Given the description of an element on the screen output the (x, y) to click on. 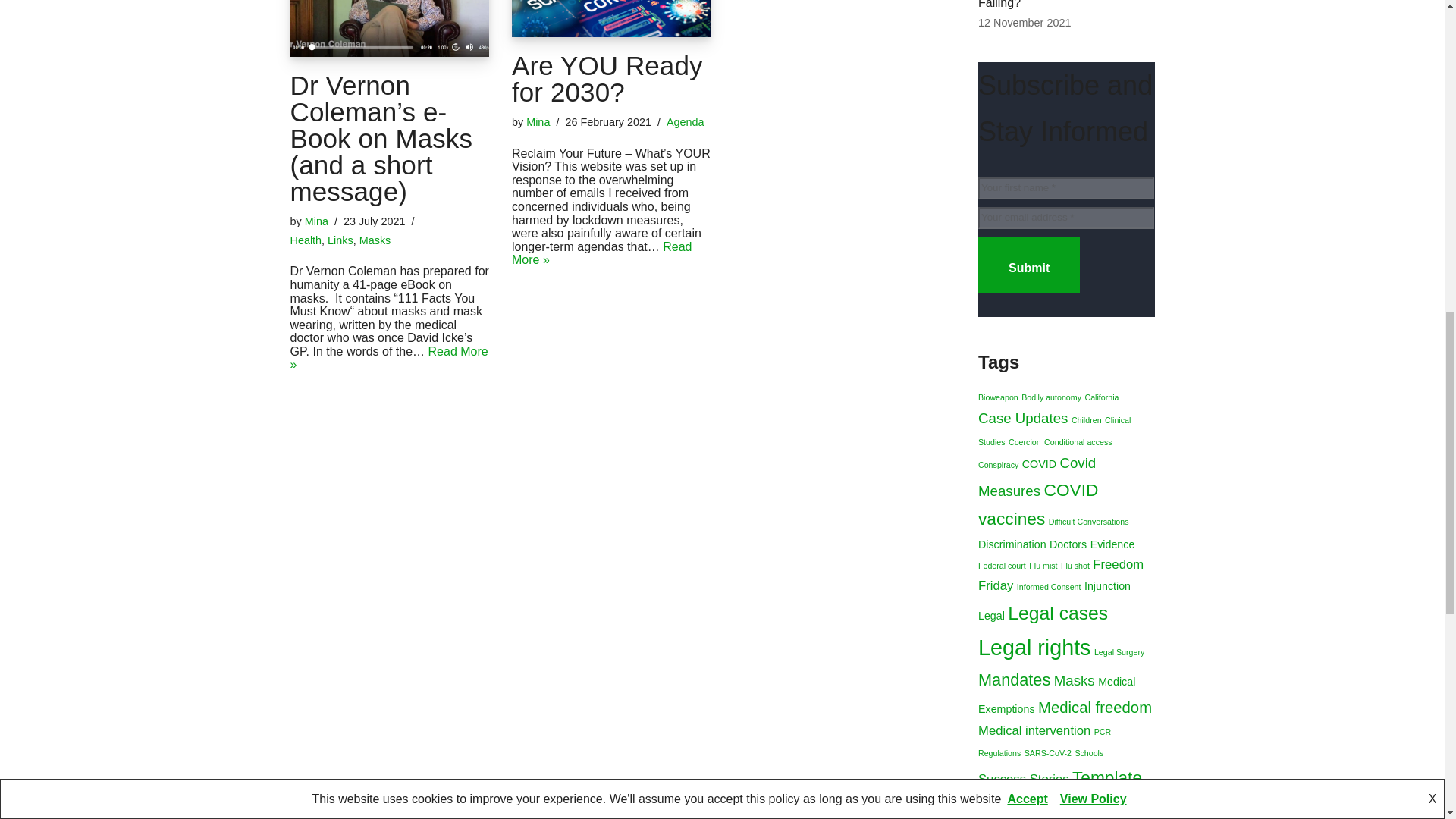
Health (305, 240)
Do not include numbers or special characters. (1066, 188)
Posts by Mina (316, 221)
Are YOU Ready for 2030? (611, 18)
Posts by Mina (537, 121)
Mina (316, 221)
